Given the description of an element on the screen output the (x, y) to click on. 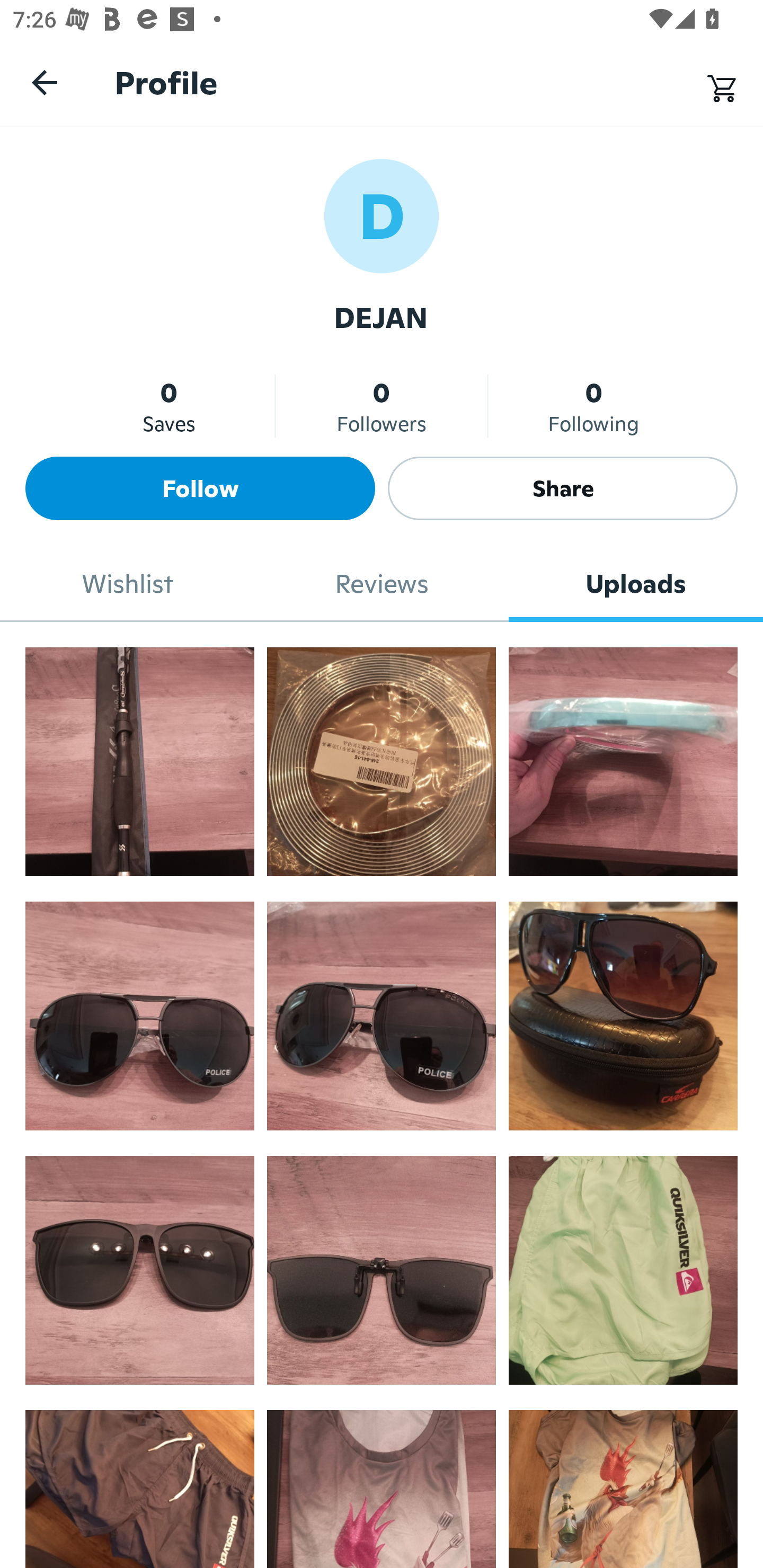
Navigate up (44, 82)
D (381, 215)
0 Followers (381, 405)
0 Following (593, 405)
Follow (200, 488)
Share (562, 488)
Wishlist (127, 583)
Reviews (381, 583)
Uploads (635, 583)
